Given the description of an element on the screen output the (x, y) to click on. 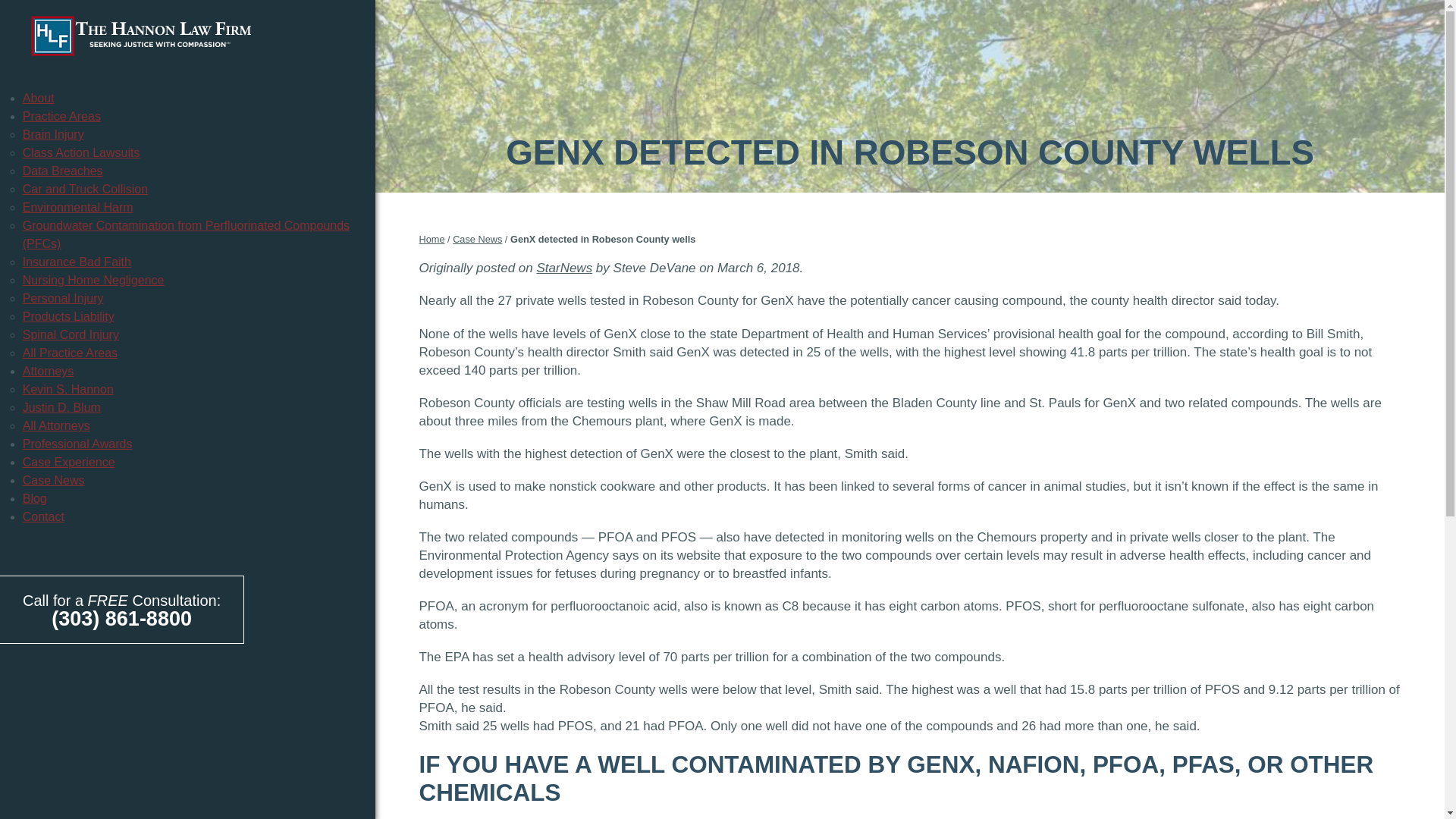
About (39, 97)
Brain Injury (53, 133)
Professional Awards (77, 443)
Kevin S. Hannon (68, 389)
All Attorneys (56, 425)
Personal Injury (63, 297)
Justin D. Blum (61, 407)
Class Action Lawsuits (81, 152)
Call (122, 618)
Case Experience (69, 461)
